Given the description of an element on the screen output the (x, y) to click on. 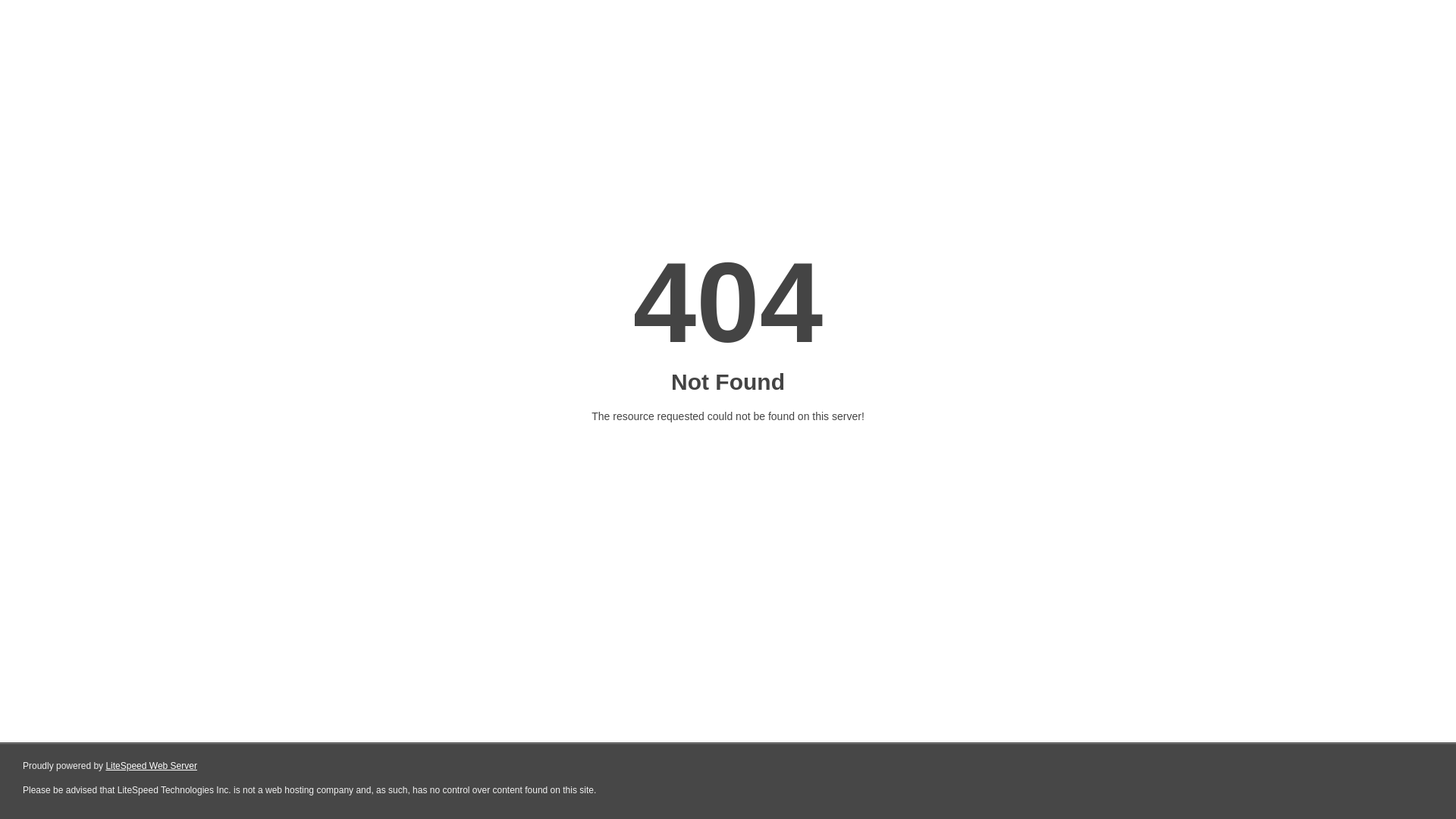
LiteSpeed Web Server Element type: text (151, 765)
